Given the description of an element on the screen output the (x, y) to click on. 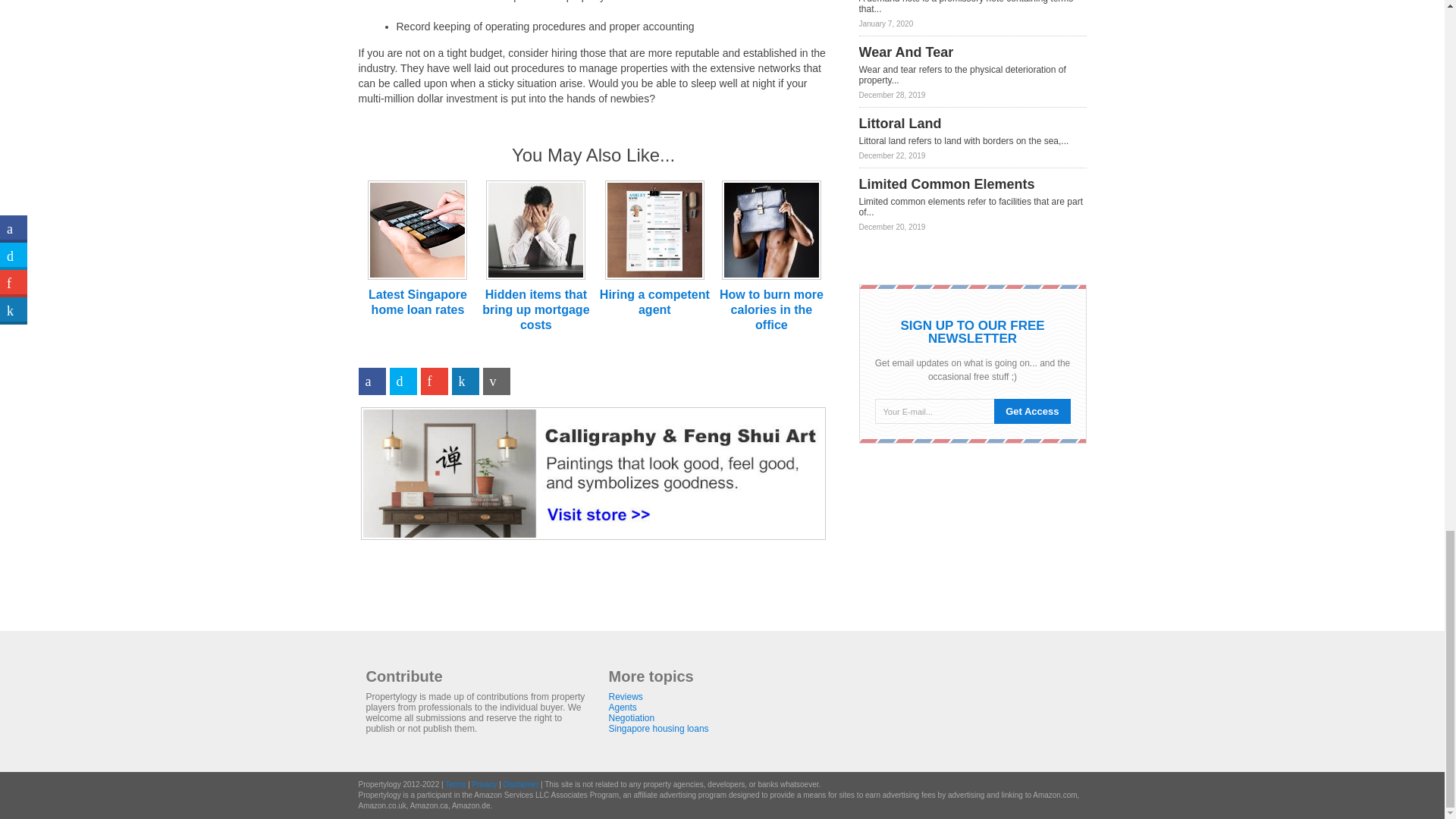
Latest Singapore home loan rates (417, 302)
Hiring a competent agent (654, 302)
Hidden items that bring up mortgage costs (535, 309)
